Given the description of an element on the screen output the (x, y) to click on. 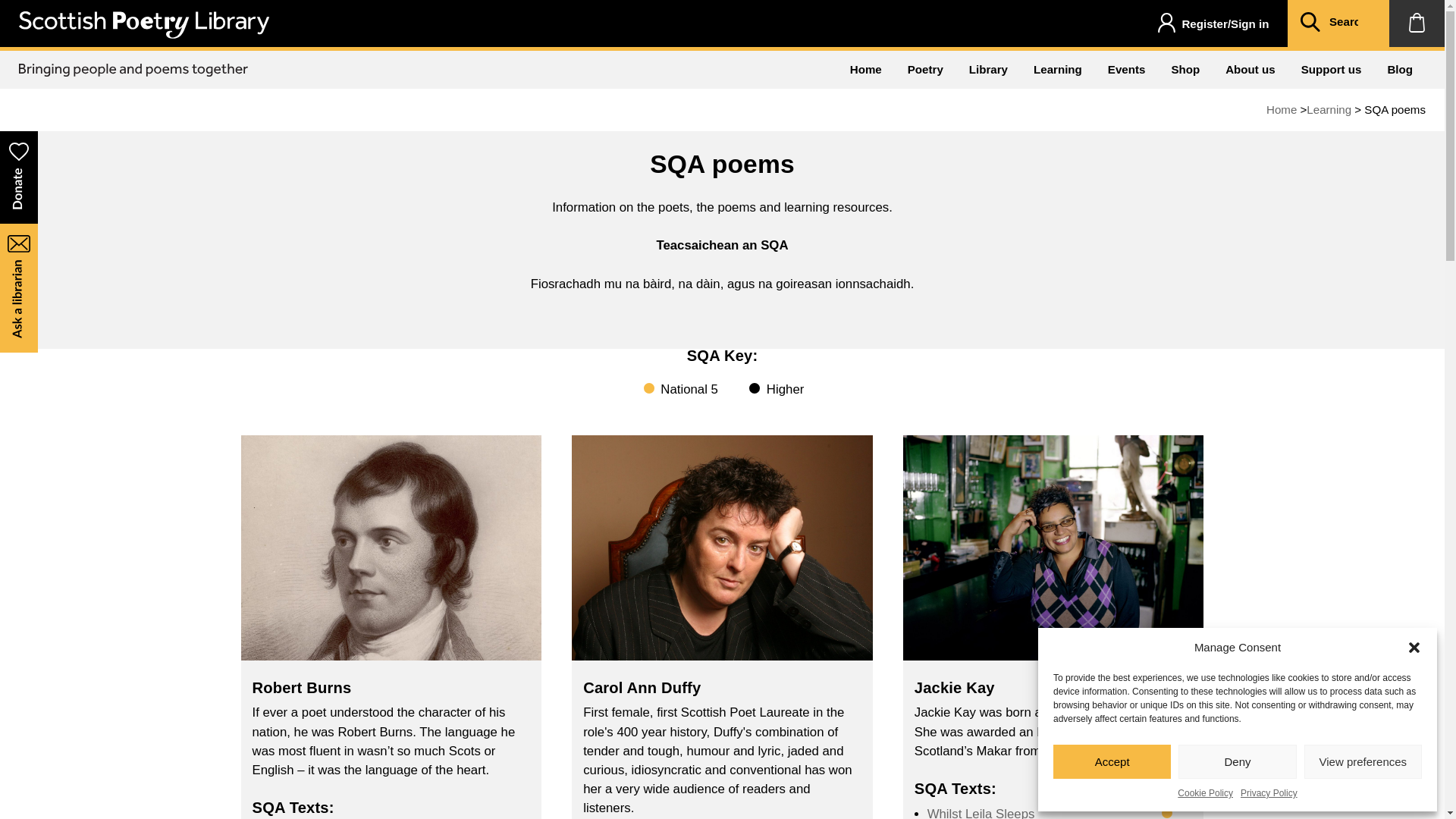
Search (1310, 24)
Accept (1111, 761)
Home (866, 69)
Privacy Policy (1268, 793)
Poetry (925, 69)
Scottish Poetry Library logo (143, 24)
View preferences (1363, 761)
Learning (1328, 109)
Search site: (1350, 22)
Deny (1236, 761)
Library (988, 69)
Donate (18, 176)
Ask a Librarian (18, 286)
National 5 (648, 388)
Shopping Bag (1416, 23)
